Given the description of an element on the screen output the (x, y) to click on. 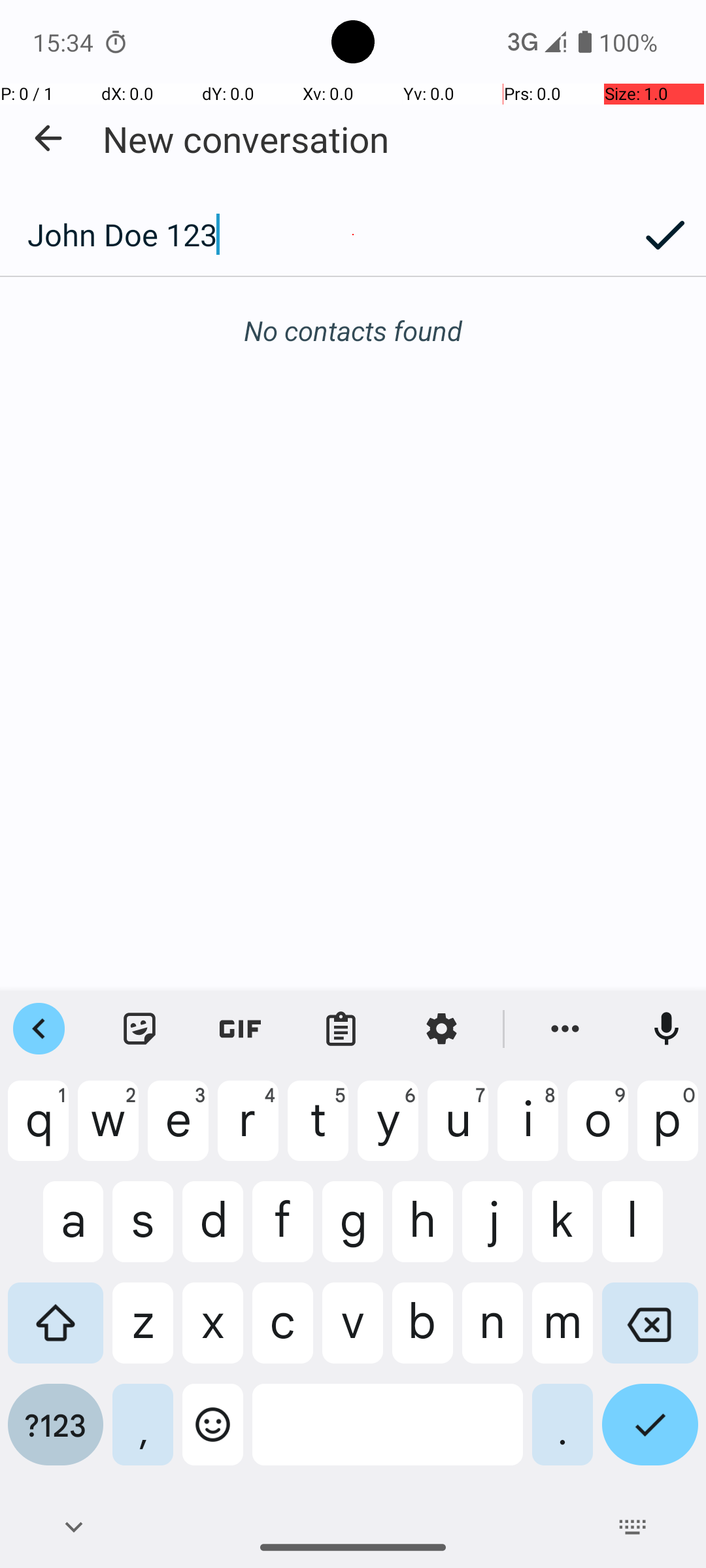
New conversation Element type: android.widget.TextView (245, 138)
John Doe 123 Element type: android.widget.EditText (311, 234)
No contacts found Element type: android.widget.TextView (353, 329)
